Given the description of an element on the screen output the (x, y) to click on. 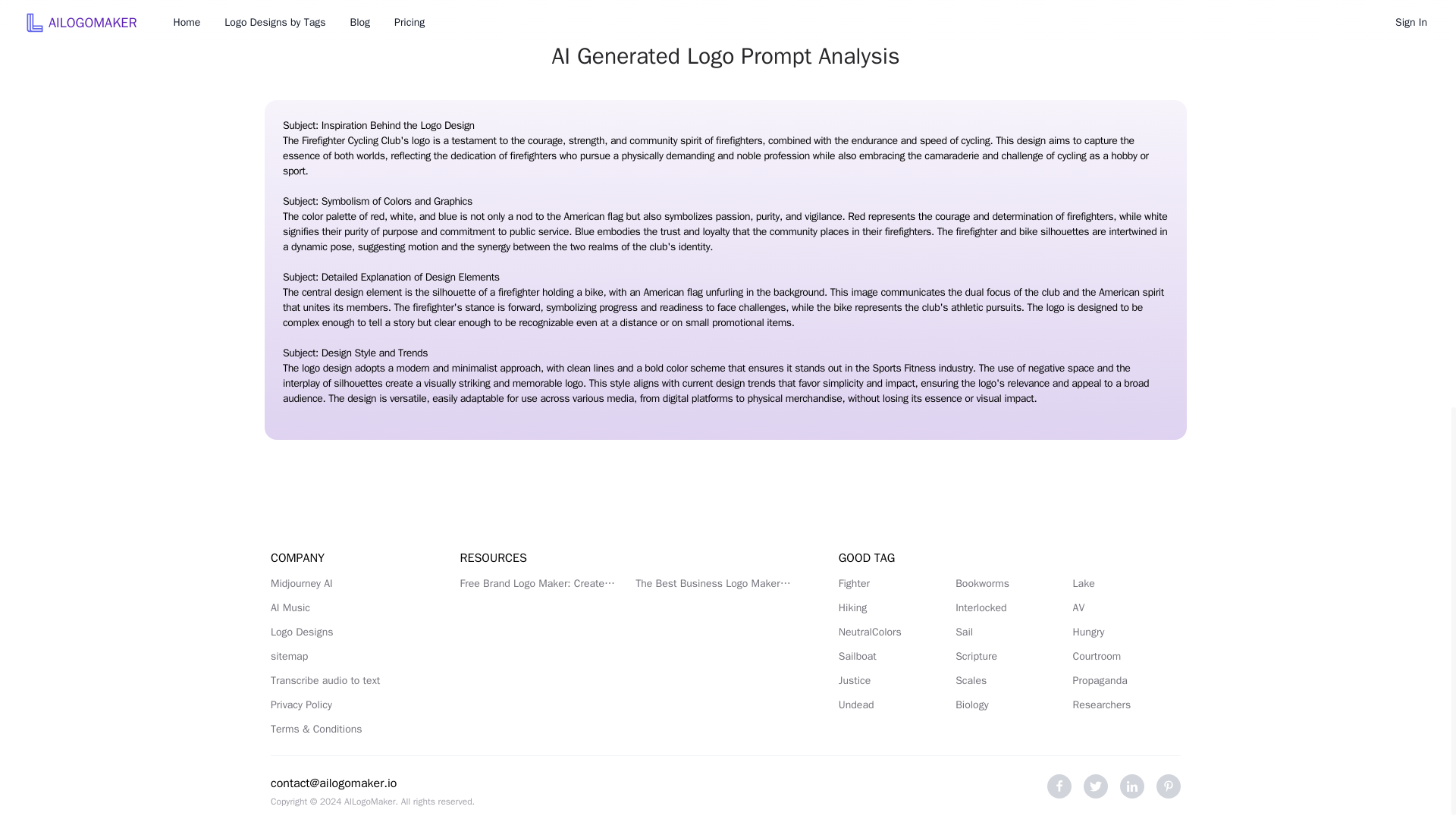
AI Music (346, 607)
Scripture (1008, 656)
Bookworms (1008, 583)
Fighter (892, 583)
Midjourney AI (346, 583)
Privacy Policy (346, 704)
Transcribe audio to text (346, 680)
Hungry (1126, 631)
Sail (1008, 631)
AI Music (346, 607)
Interlocked (1008, 607)
Sailboat (892, 656)
Hiking (892, 607)
AV (1126, 607)
